Given the description of an element on the screen output the (x, y) to click on. 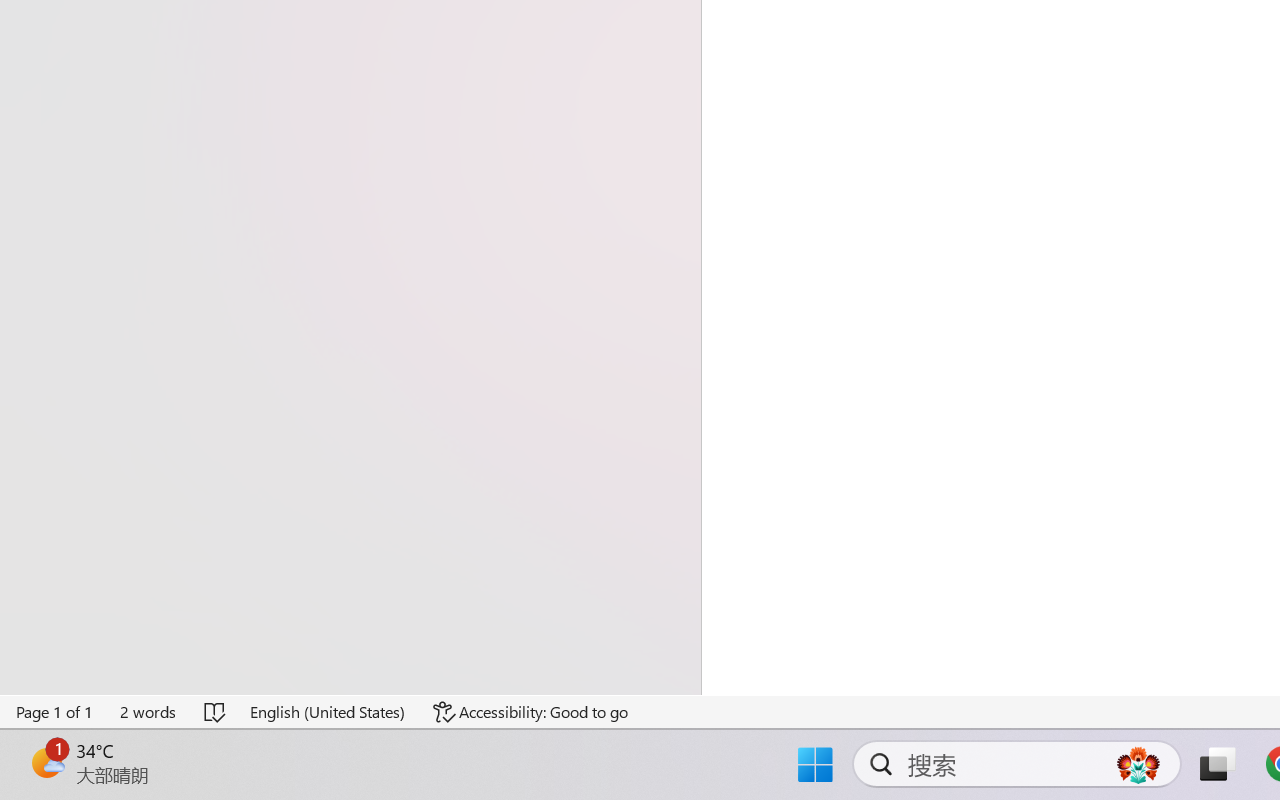
Word Count 2 words (149, 712)
Page Number Page 1 of 1 (55, 712)
